Given the description of an element on the screen output the (x, y) to click on. 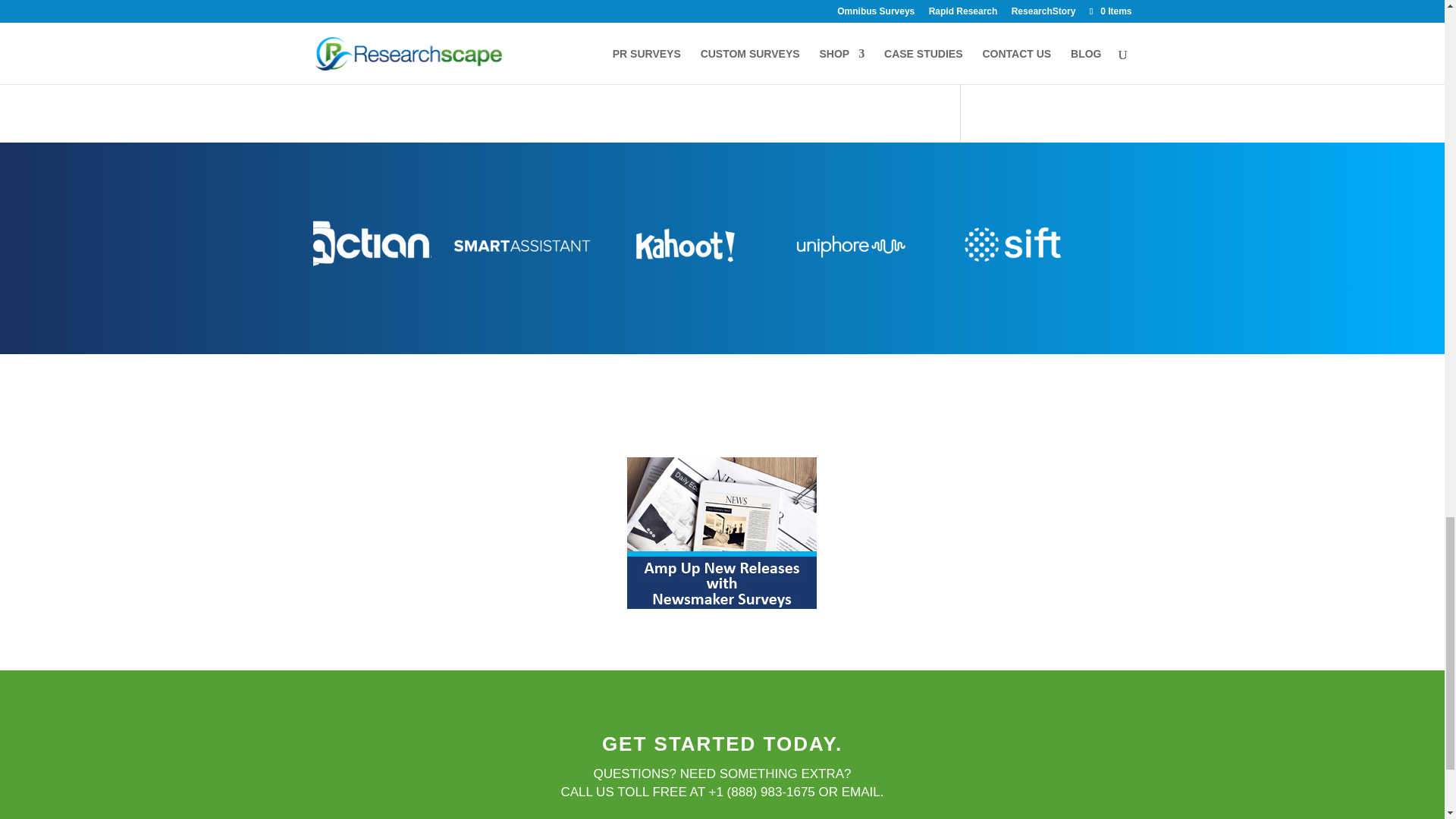
kahootwhite (684, 245)
